Given the description of an element on the screen output the (x, y) to click on. 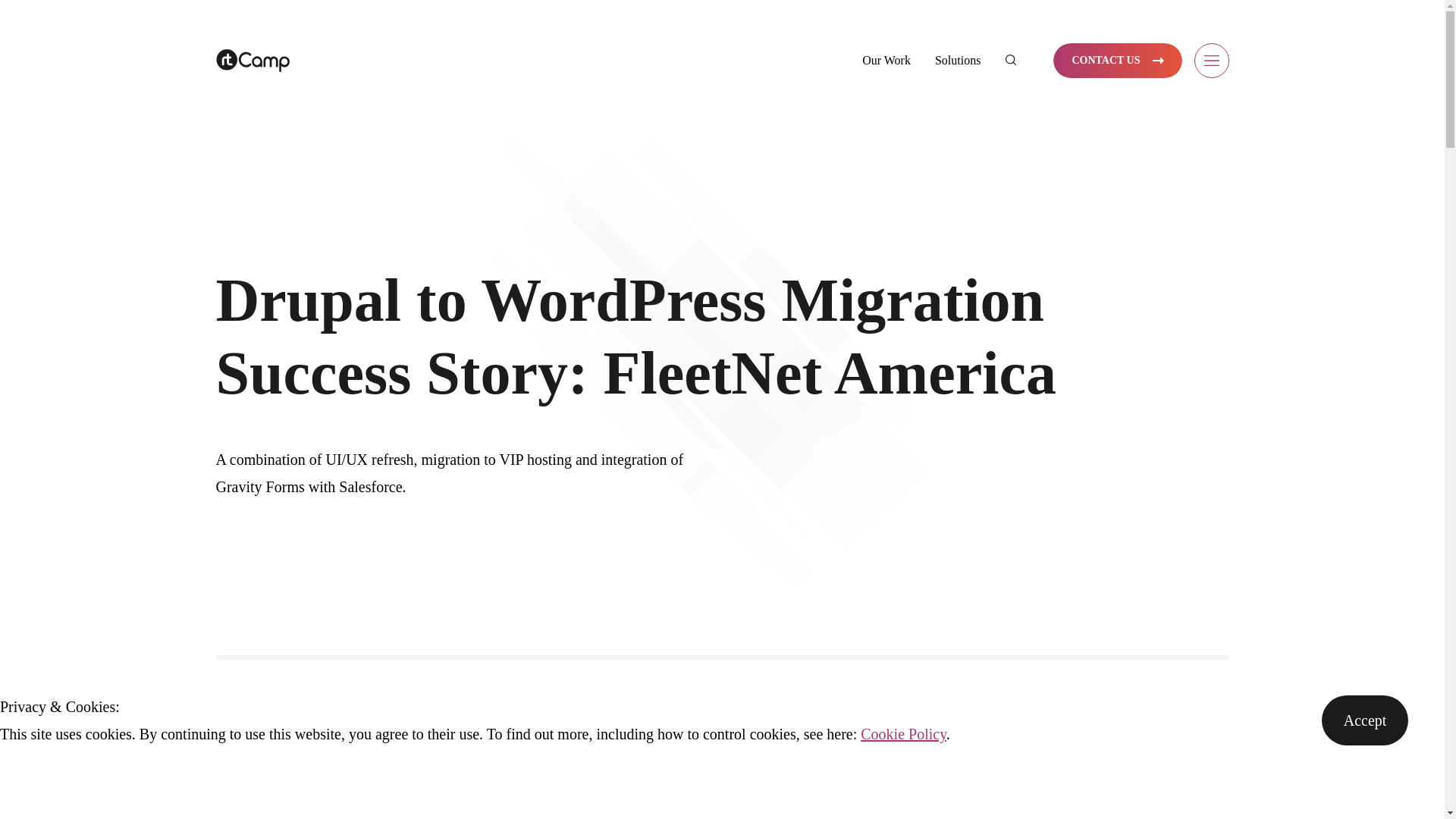
CONTACT US (1116, 60)
Our Work (886, 60)
Solutions (956, 60)
